Given the description of an element on the screen output the (x, y) to click on. 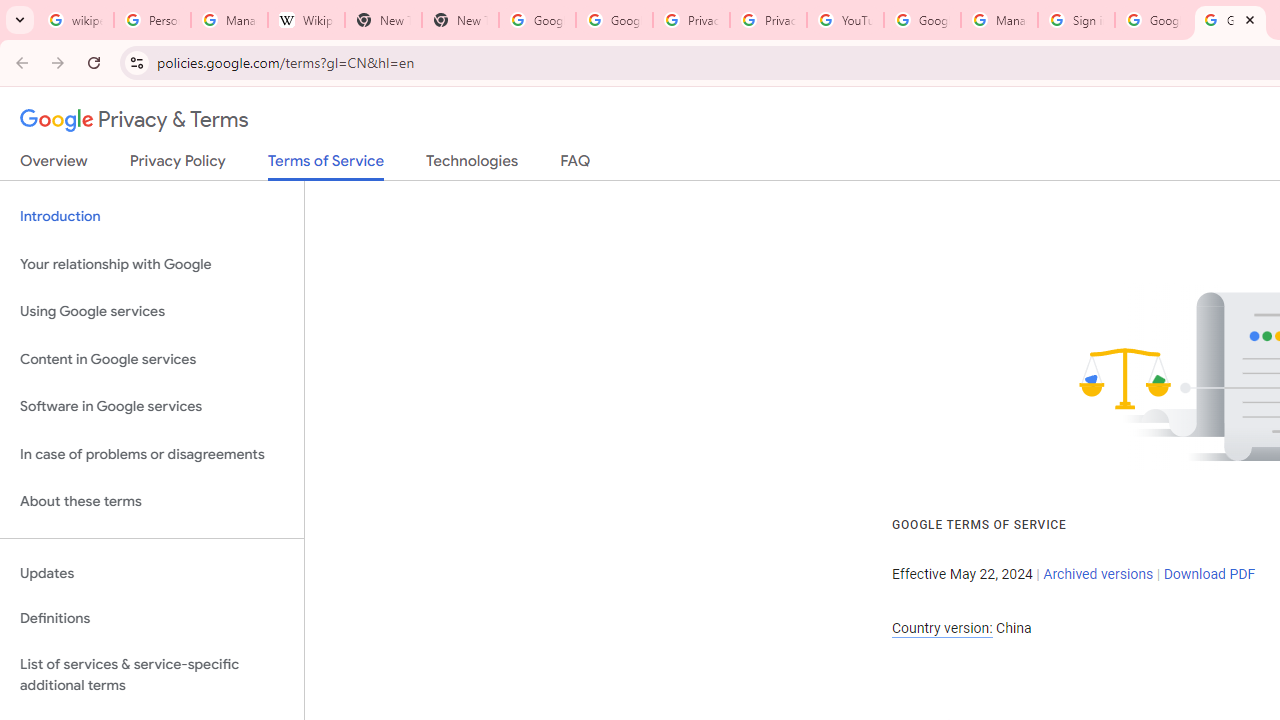
Google Drive: Sign-in (614, 20)
Definitions (152, 619)
In case of problems or disagreements (152, 453)
New Tab (383, 20)
New Tab (460, 20)
About these terms (152, 502)
Software in Google services (152, 407)
Updates (152, 573)
